Given the description of an element on the screen output the (x, y) to click on. 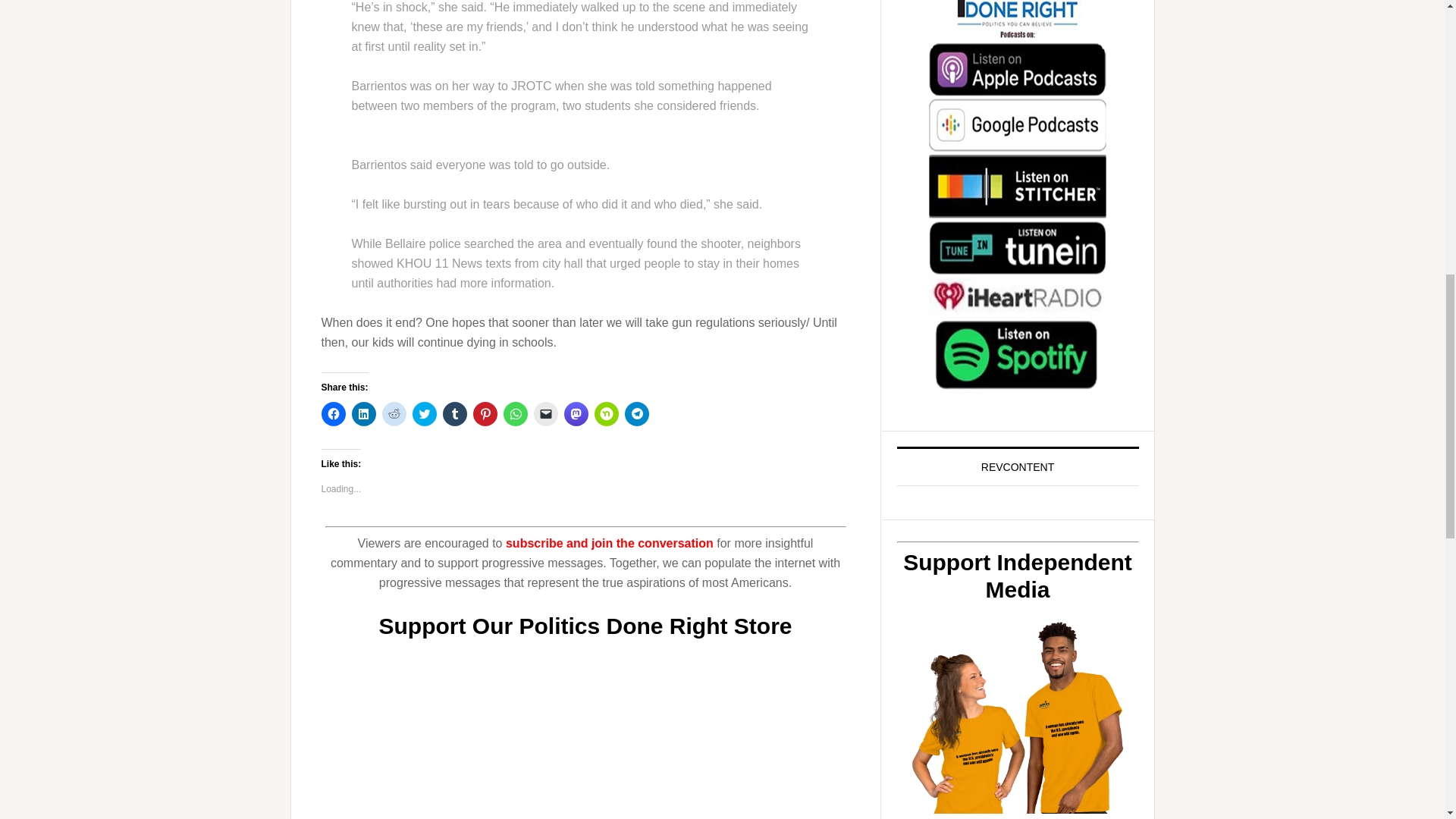
Click to email a link to a friend (545, 413)
Click to share on Twitter (424, 413)
Click to share on Nextdoor (606, 413)
Click to share on Reddit (393, 413)
Click to share on Tumblr (454, 413)
Click to share on Pinterest (485, 413)
Click to share on LinkedIn (363, 413)
Click to share on WhatsApp (515, 413)
Click to share on Facebook (333, 413)
Click to share on Telegram (636, 413)
